Given the description of an element on the screen output the (x, y) to click on. 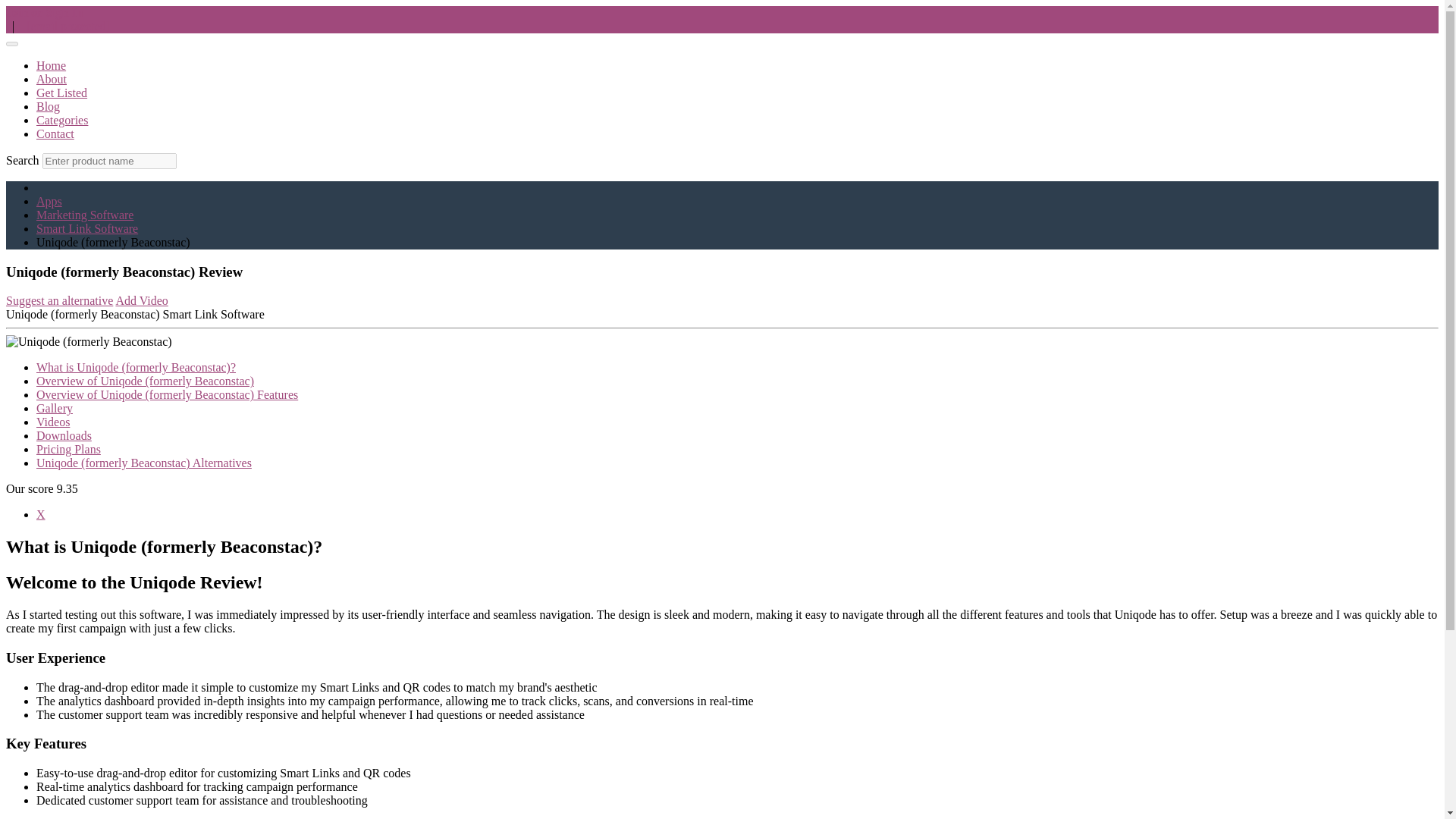
Pricing Plans (68, 449)
Videos (52, 421)
Home (50, 65)
Gallery (54, 408)
Join or Sign In (43, 11)
Contact (55, 133)
Get Listed (61, 92)
About (51, 78)
Add Video (141, 300)
Blog (47, 106)
